Given the description of an element on the screen output the (x, y) to click on. 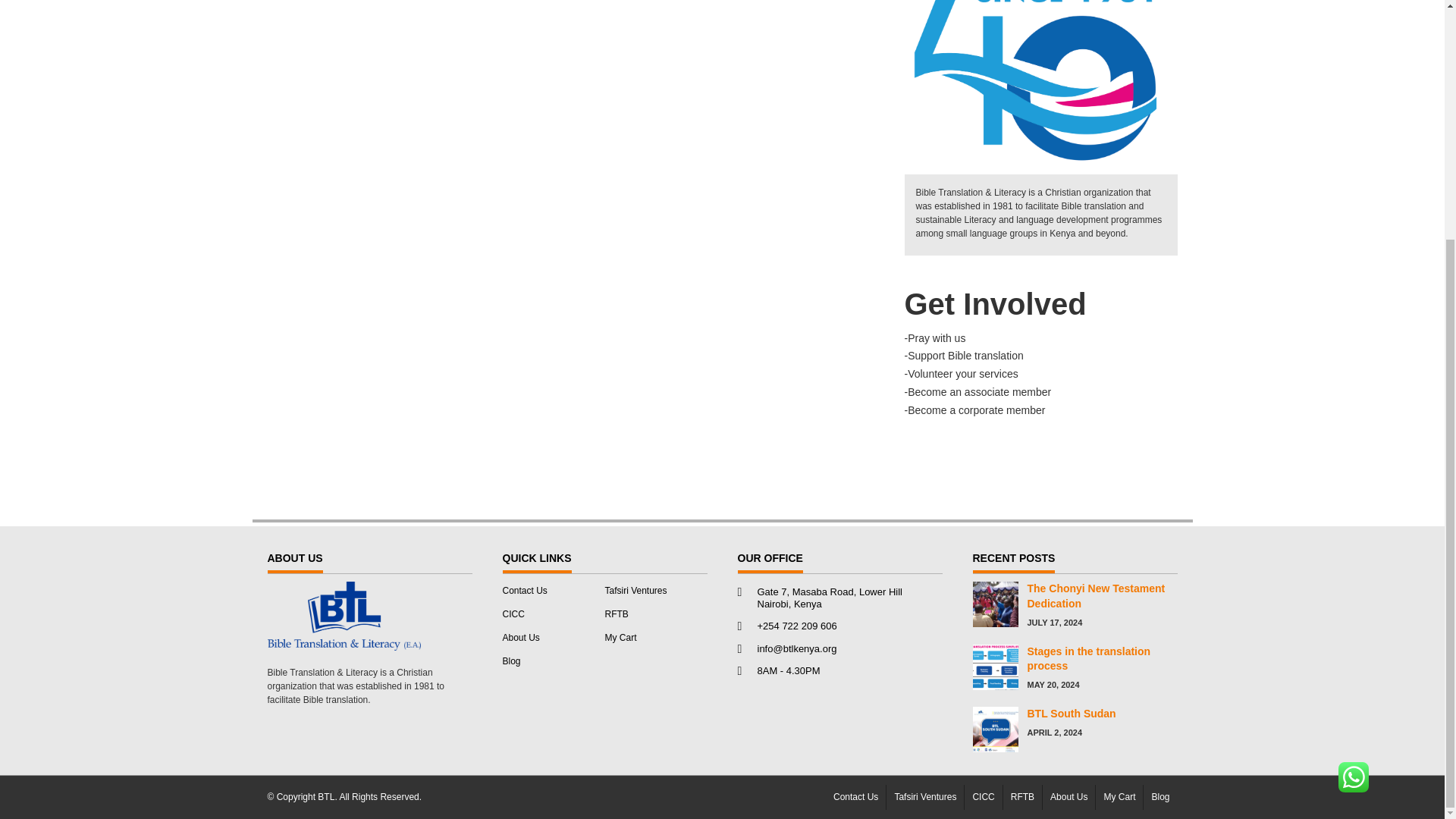
RFTB (616, 614)
Tafsiri Ventures (635, 590)
Contact Us (524, 590)
Blog (510, 661)
CICC (513, 614)
My Cart (621, 637)
About Us (520, 637)
